Given the description of an element on the screen output the (x, y) to click on. 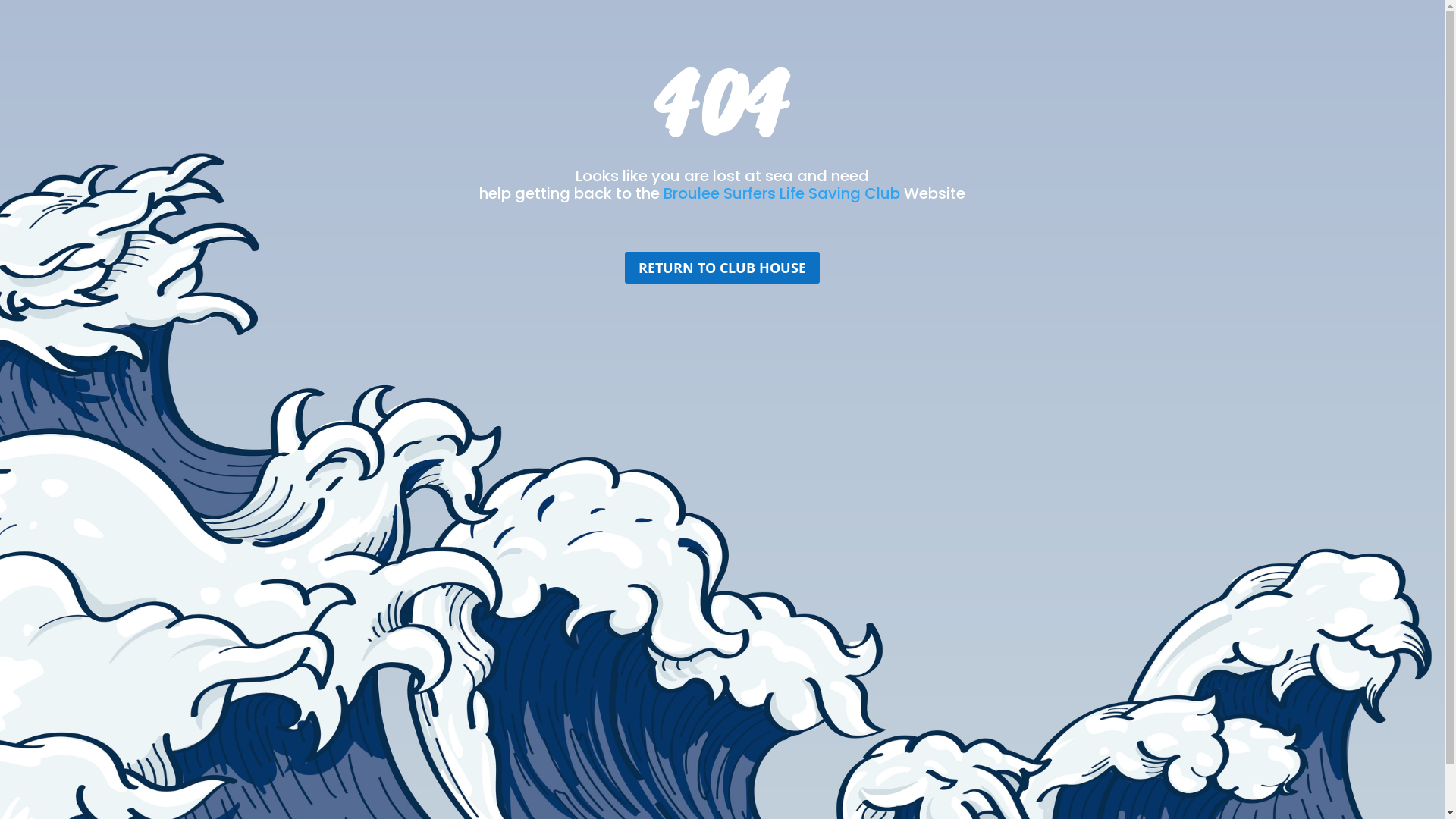
RETURN TO CLUB HOUSE Element type: text (721, 266)
Broulee Surfers Life Saving Club Element type: text (781, 192)
